Given the description of an element on the screen output the (x, y) to click on. 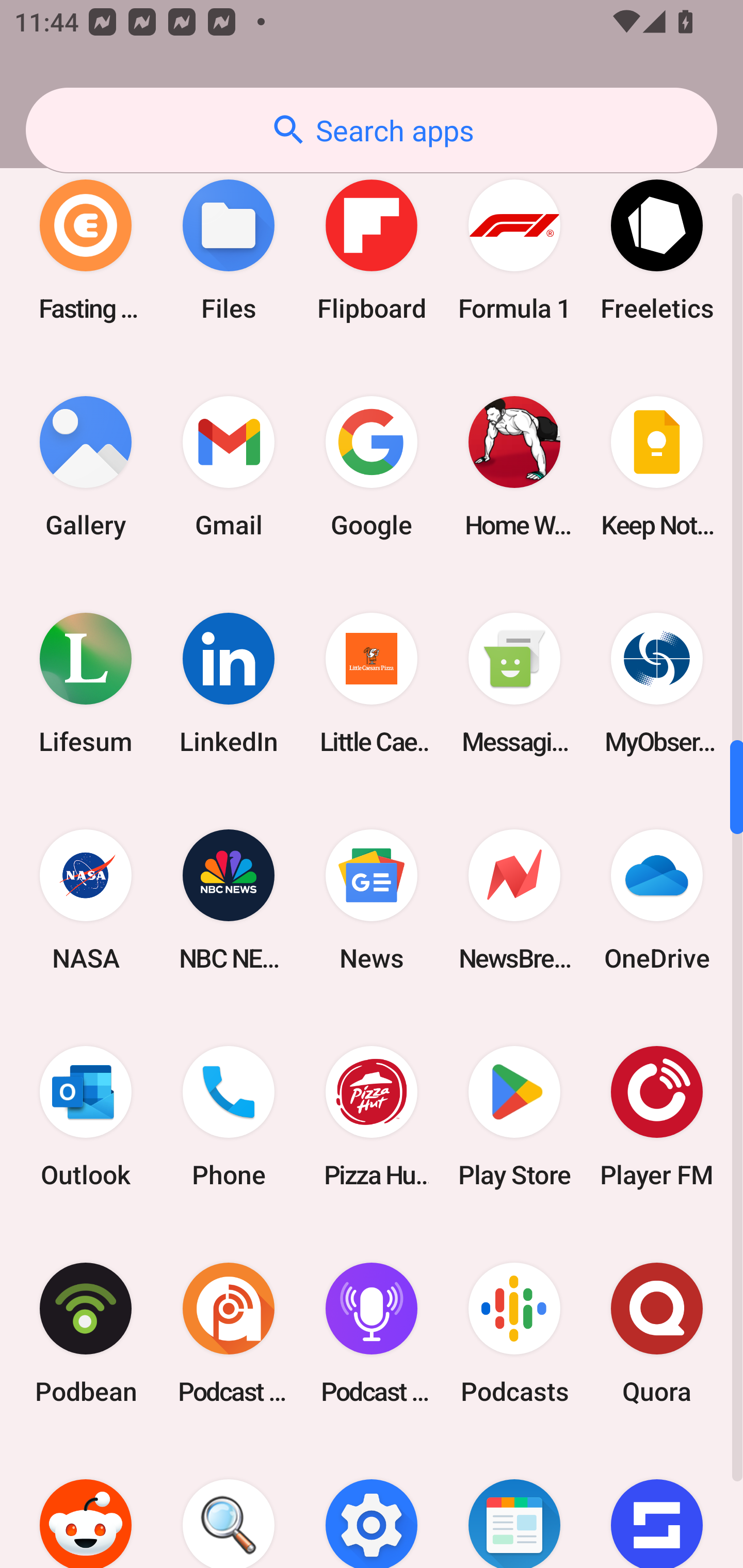
  Search apps (371, 130)
Fasting Coach (85, 250)
Files (228, 250)
Flipboard (371, 250)
Formula 1 (514, 250)
Freeletics (656, 250)
Gallery (85, 467)
Gmail (228, 467)
Google (371, 467)
Home Workout (514, 467)
Keep Notes (656, 467)
Lifesum (85, 683)
LinkedIn (228, 683)
Little Caesars Pizza (371, 683)
Messaging (514, 683)
MyObservatory (656, 683)
NASA (85, 899)
NBC NEWS (228, 899)
News (371, 899)
NewsBreak (514, 899)
OneDrive (656, 899)
Outlook (85, 1116)
Phone (228, 1116)
Pizza Hut HK & Macau (371, 1116)
Play Store (514, 1116)
Player FM (656, 1116)
Podbean (85, 1332)
Podcast Addict (228, 1332)
Podcast Player (371, 1332)
Podcasts (514, 1332)
Quora (656, 1332)
Reddit (85, 1504)
Search (228, 1504)
Settings (371, 1504)
SmartNews (514, 1504)
Sofascore (656, 1504)
